Given the description of an element on the screen output the (x, y) to click on. 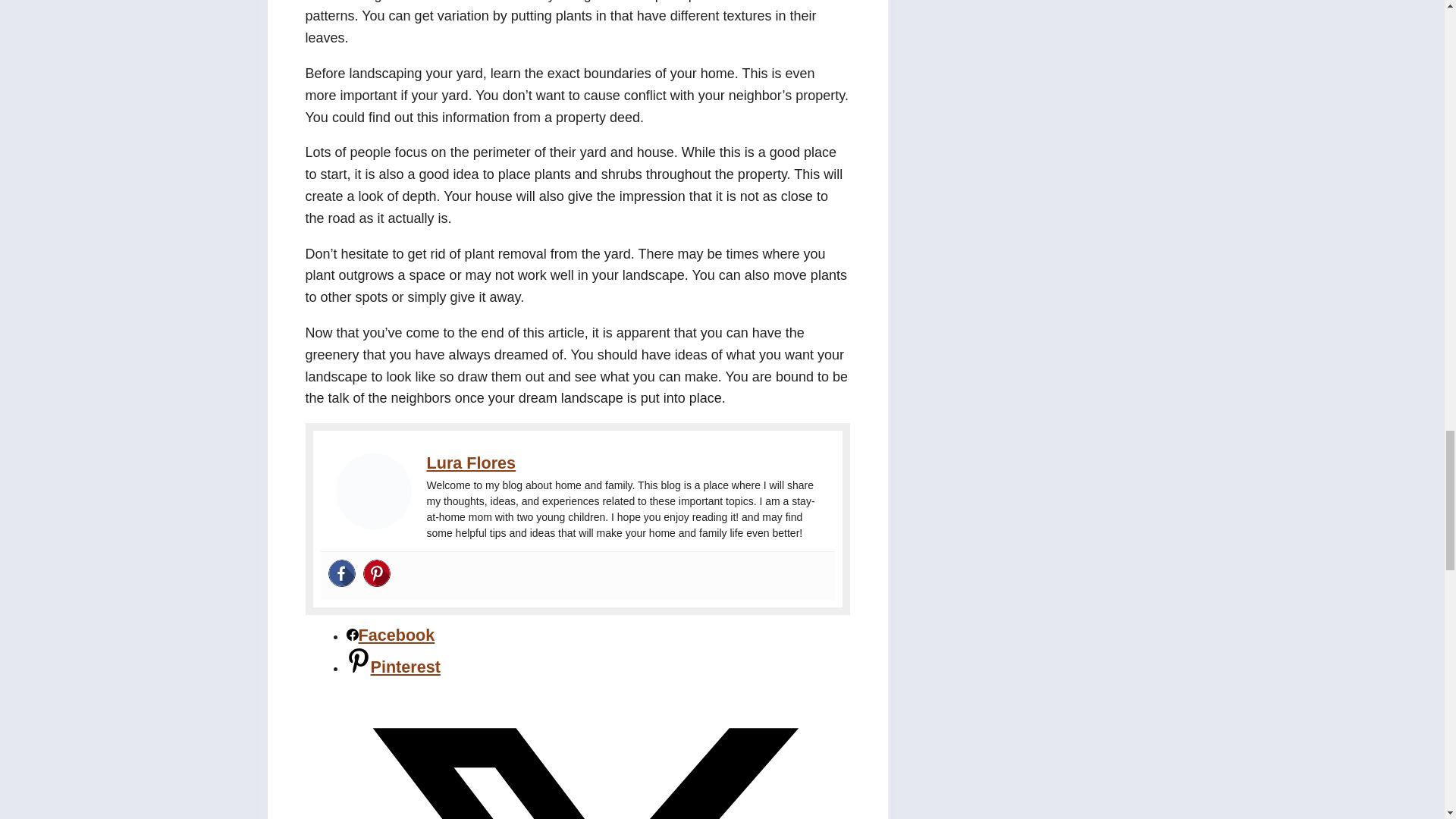
Facebook (341, 574)
Share on Facebook (389, 634)
Share on Pinterest (392, 666)
Pinterest (376, 574)
